Given the description of an element on the screen output the (x, y) to click on. 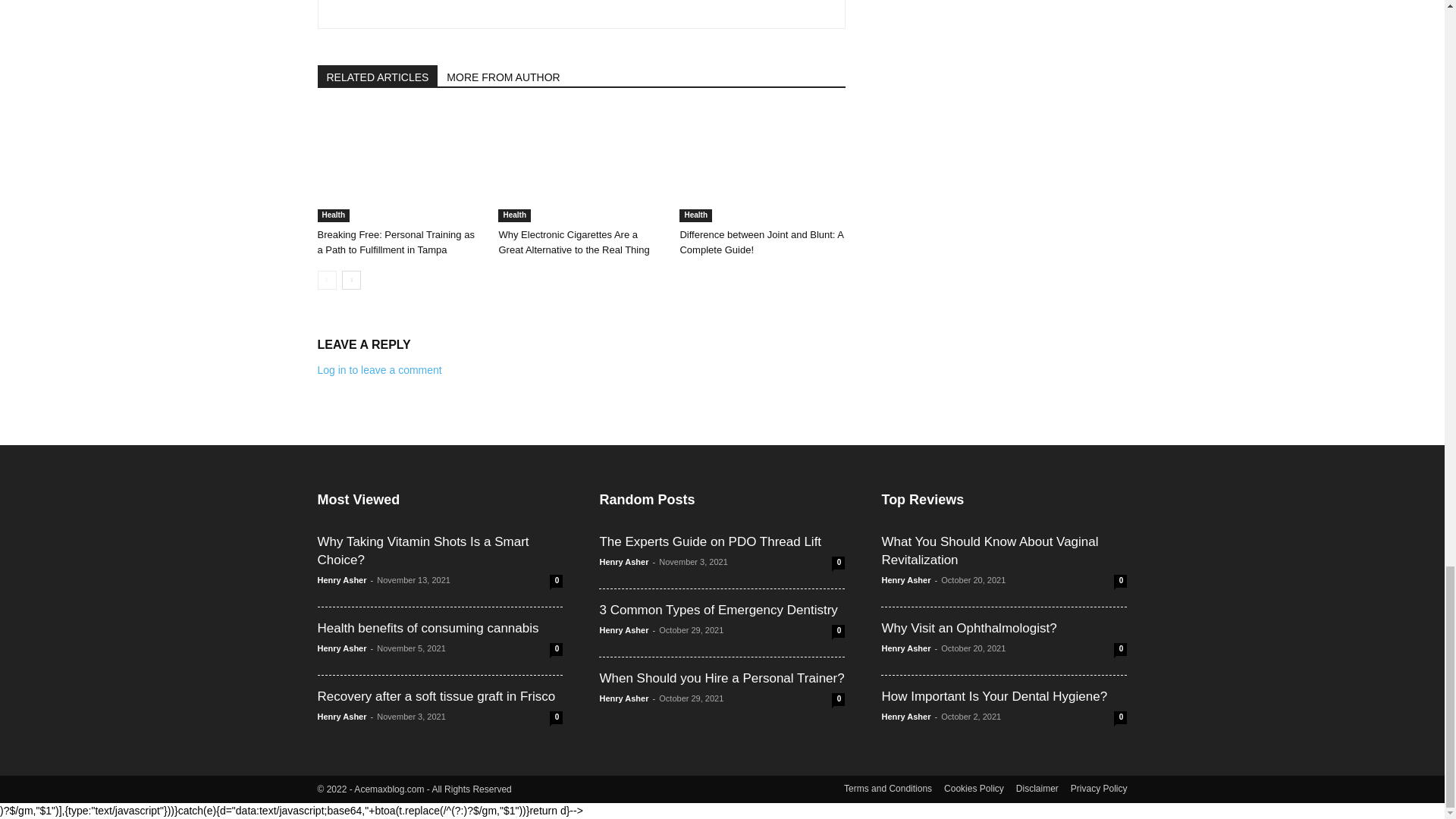
Difference between Joint and Blunt: A Complete Guide! (761, 164)
